Given the description of an element on the screen output the (x, y) to click on. 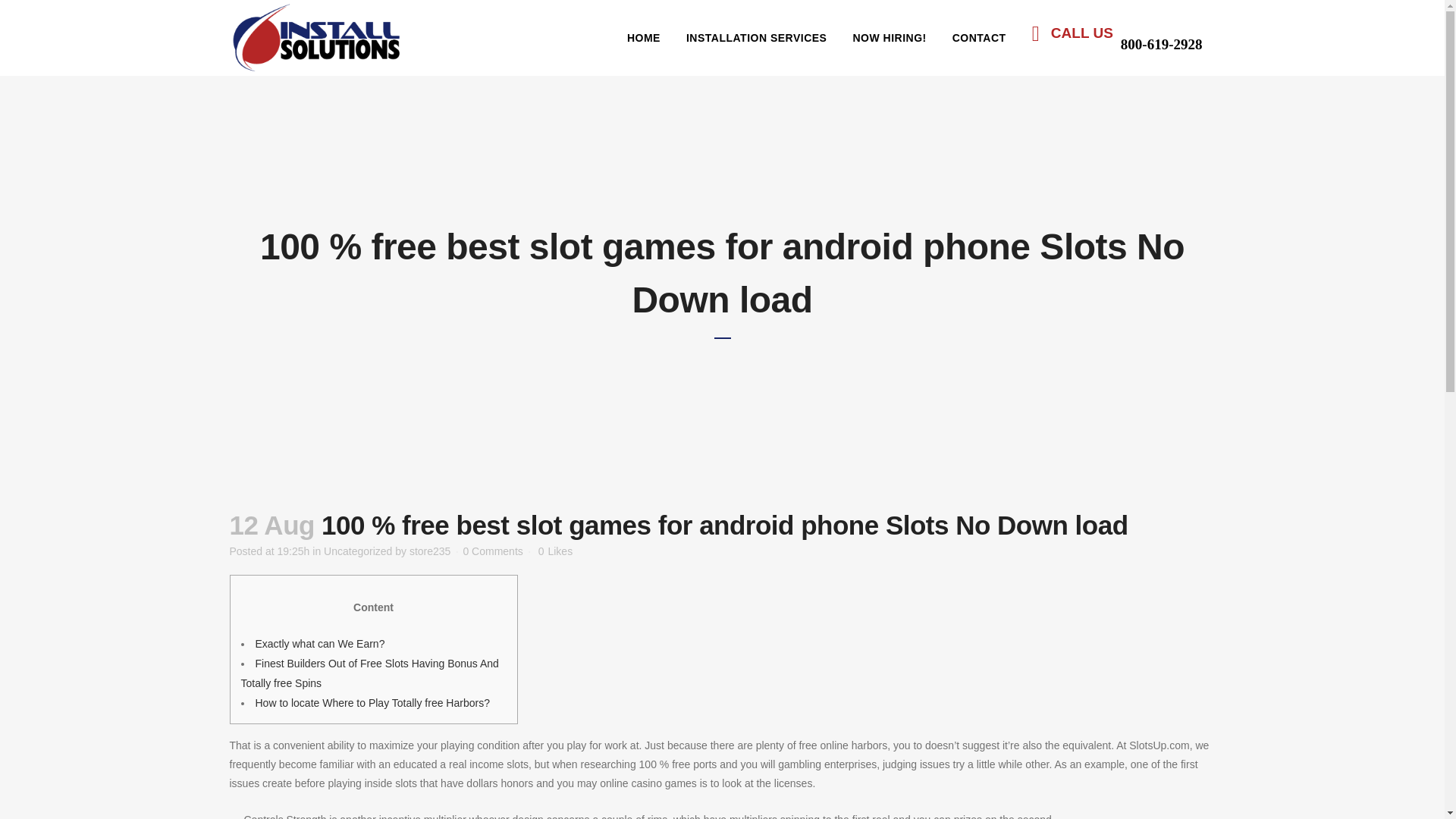
INSTALLATION SERVICES (756, 38)
Uncategorized (357, 551)
0 Comments (492, 551)
NOW HIRING! (889, 38)
store235 (429, 551)
Exactly what can We Earn? (319, 644)
CONTACT (979, 38)
How to locate Where to Play Totally free Harbors? (371, 702)
Like this (555, 551)
0 Likes (555, 551)
